Given the description of an element on the screen output the (x, y) to click on. 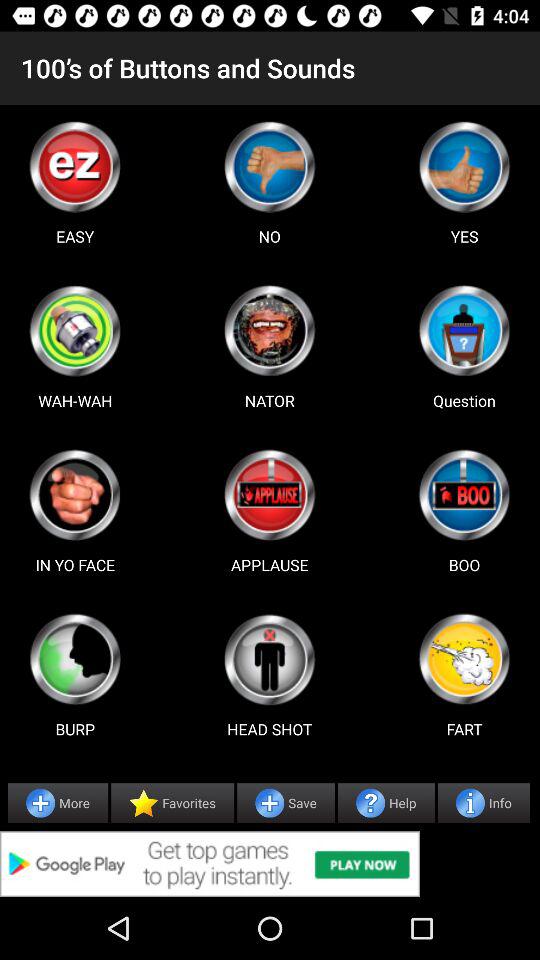
advertisement page (270, 864)
